Given the description of an element on the screen output the (x, y) to click on. 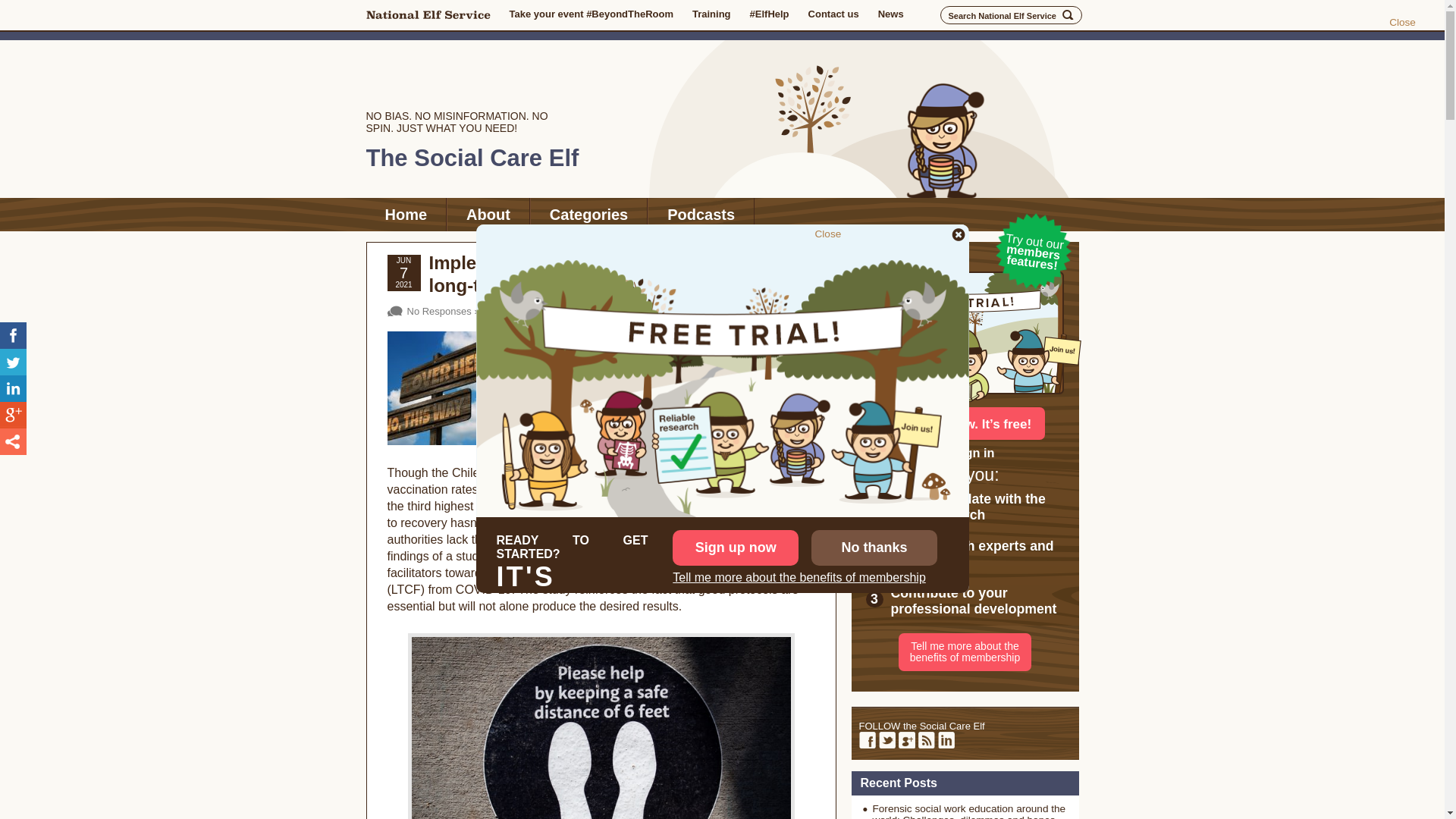
Home (405, 214)
Share on Facebook (13, 335)
About (487, 214)
Contact us (833, 13)
Follow us on Twitter (886, 740)
News (890, 13)
Share on LinkedIn (13, 388)
Posts by Javiera Cartagena Farias (779, 321)
Tweet this on Twitter (13, 361)
Search (1068, 14)
Training (711, 13)
Share via sharethis (13, 441)
Search (1068, 14)
Categories (588, 214)
